Given the description of an element on the screen output the (x, y) to click on. 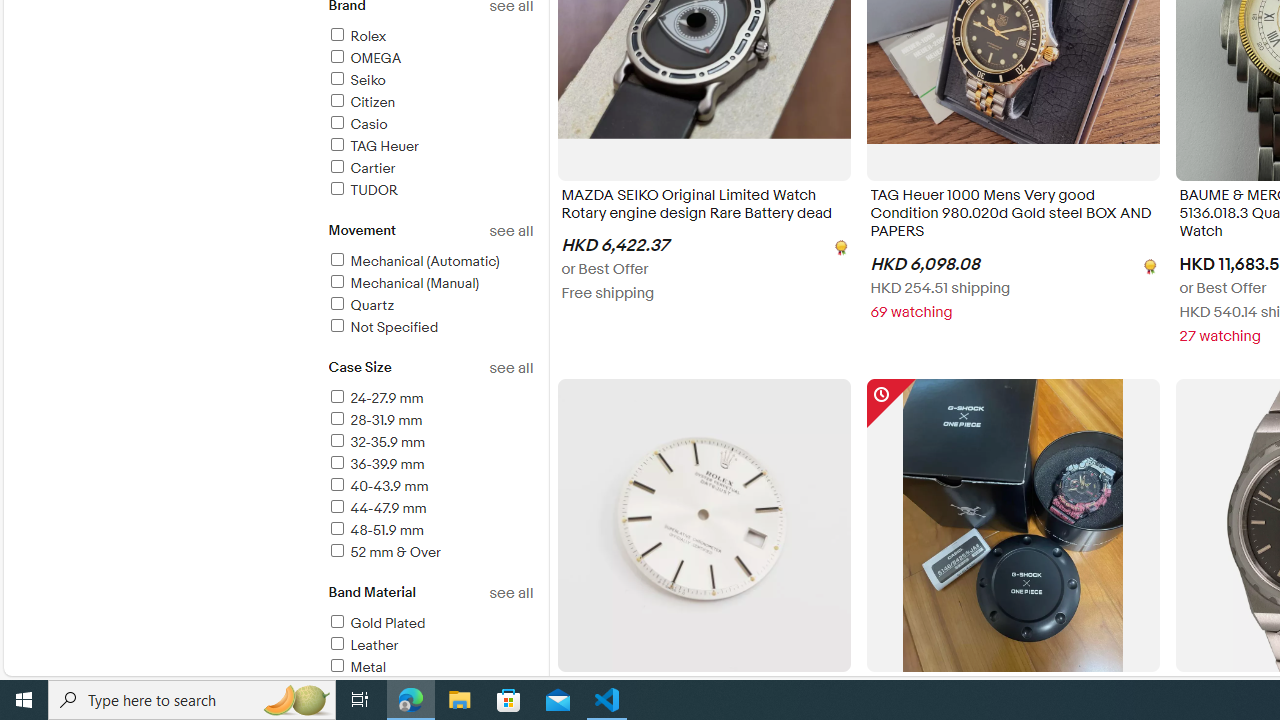
Mechanical (Automatic) (413, 261)
28-31.9 mm (374, 420)
[object Undefined] (1147, 264)
36-39.9 mm (430, 465)
Rolex (356, 36)
Seiko (430, 81)
Cartier (430, 169)
Casio (356, 124)
Quartz (430, 306)
Citizen (360, 102)
44-47.9 mm (376, 507)
Cartier (360, 168)
40-43.9 mm (430, 487)
Citizen (430, 103)
